Given the description of an element on the screen output the (x, y) to click on. 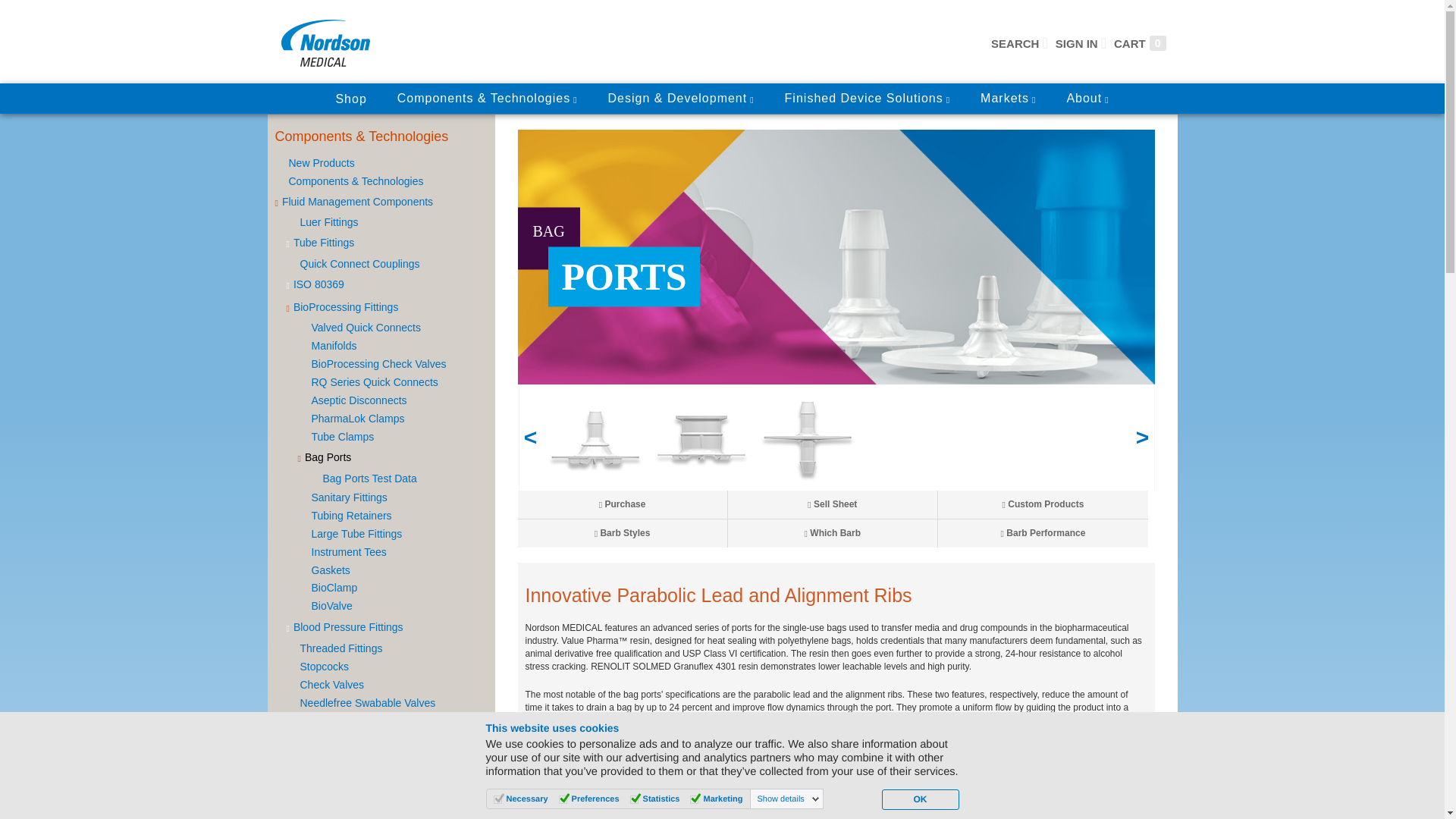
OK (919, 799)
Show details (788, 799)
